Given the description of an element on the screen output the (x, y) to click on. 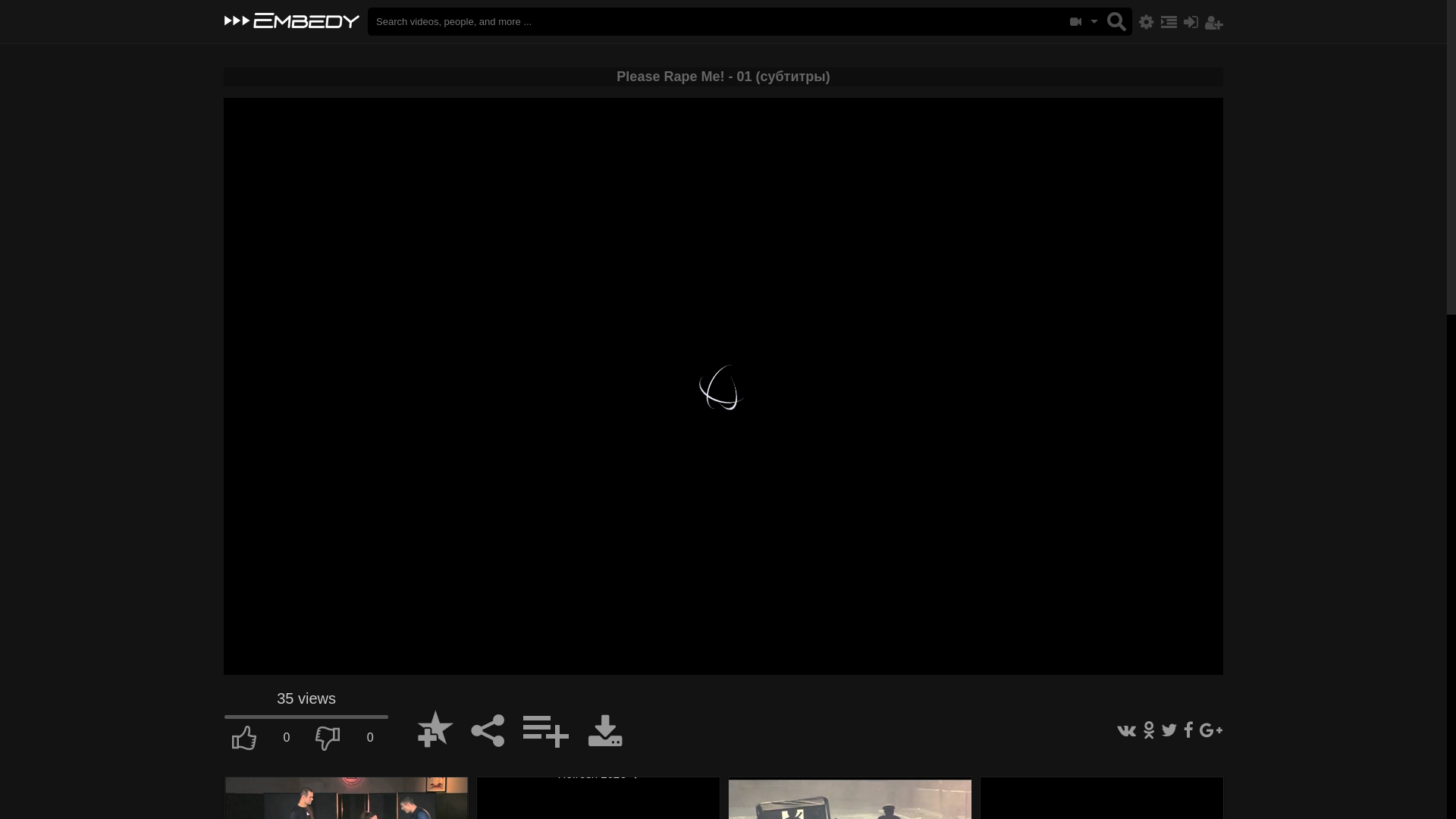
Search settings Element type: hover (1144, 23)
Embedy Element type: hover (291, 20)
Add to playlist Element type: hover (538, 724)
Add to favorites Element type: hover (427, 724)
0 Element type: text (347, 740)
Share Element type: hover (480, 724)
0 Element type: text (264, 740)
My Playlist Element type: hover (1166, 23)
0 votes Element type: hover (306, 716)
Sign in to your account Element type: hover (1190, 22)
Fast Registration Element type: hover (1213, 22)
Download Element type: hover (605, 733)
